Given the description of an element on the screen output the (x, y) to click on. 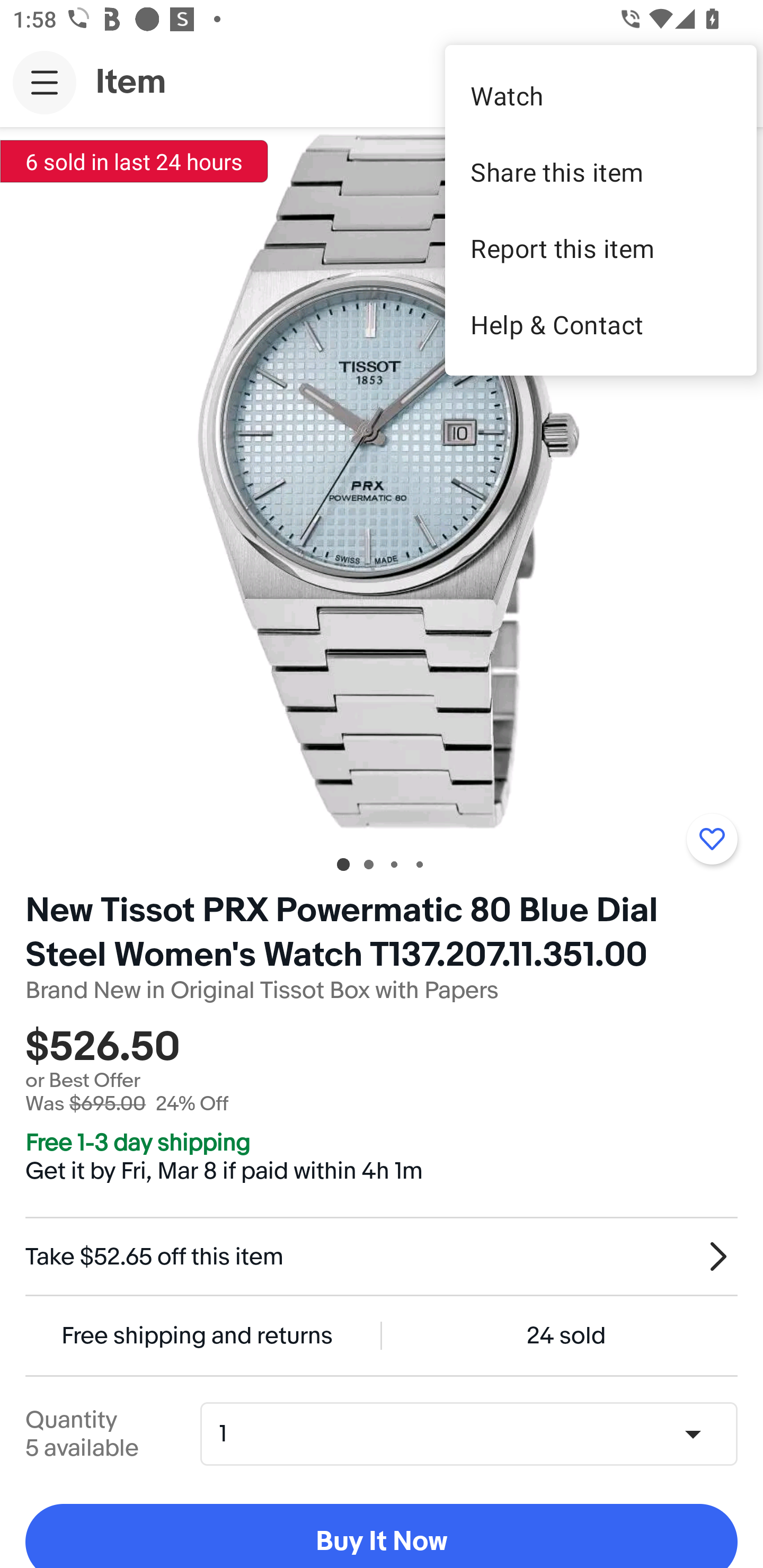
Watch (600, 95)
Share this item (600, 171)
Report this item (600, 248)
Help & Contact (600, 324)
